Given the description of an element on the screen output the (x, y) to click on. 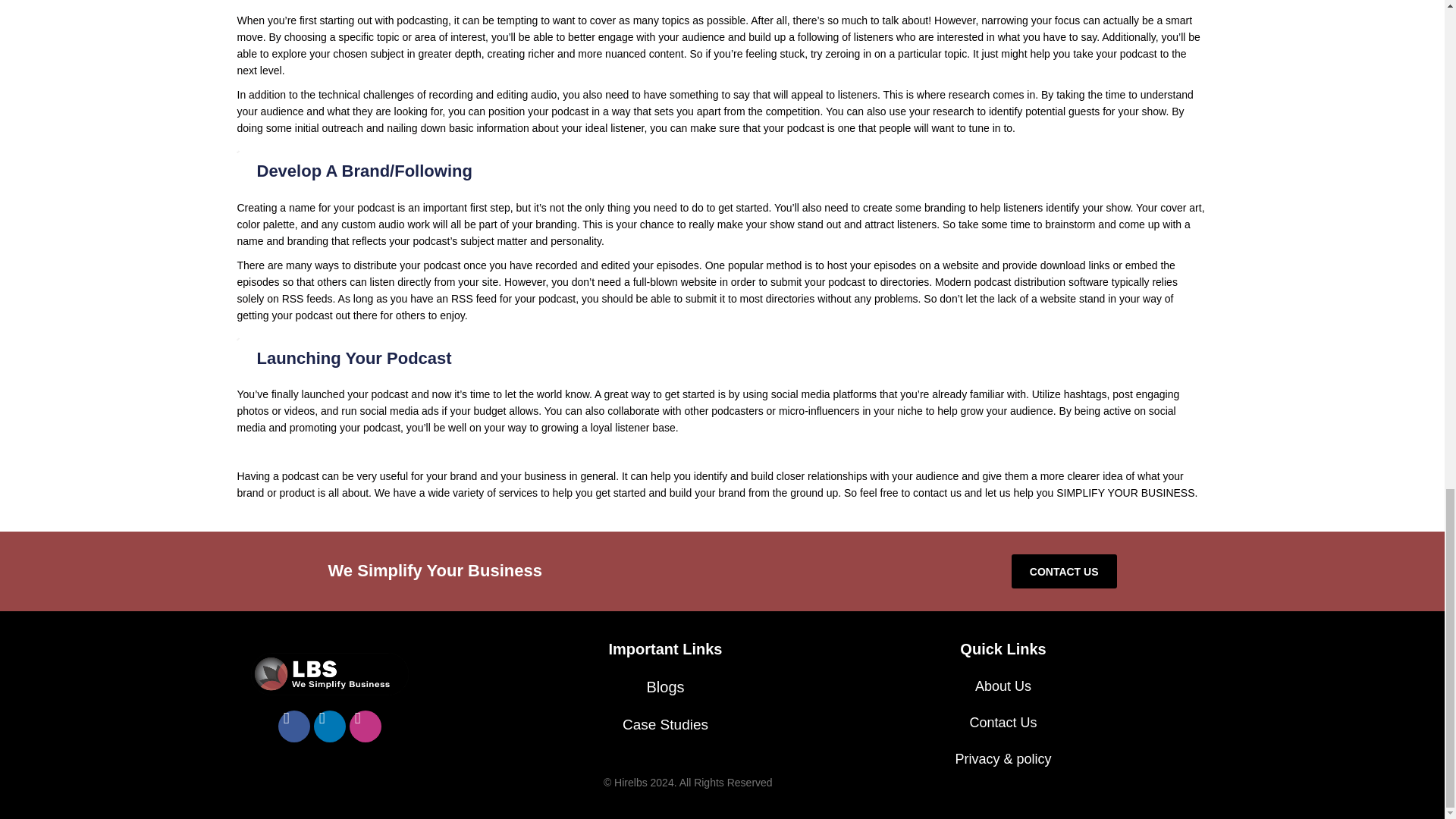
About Us (1002, 685)
CONTACT US (1063, 571)
Quick Links (1002, 648)
Blogs (665, 686)
Contact Us (1002, 722)
Important Links (665, 648)
Case Studies (665, 724)
